Given the description of an element on the screen output the (x, y) to click on. 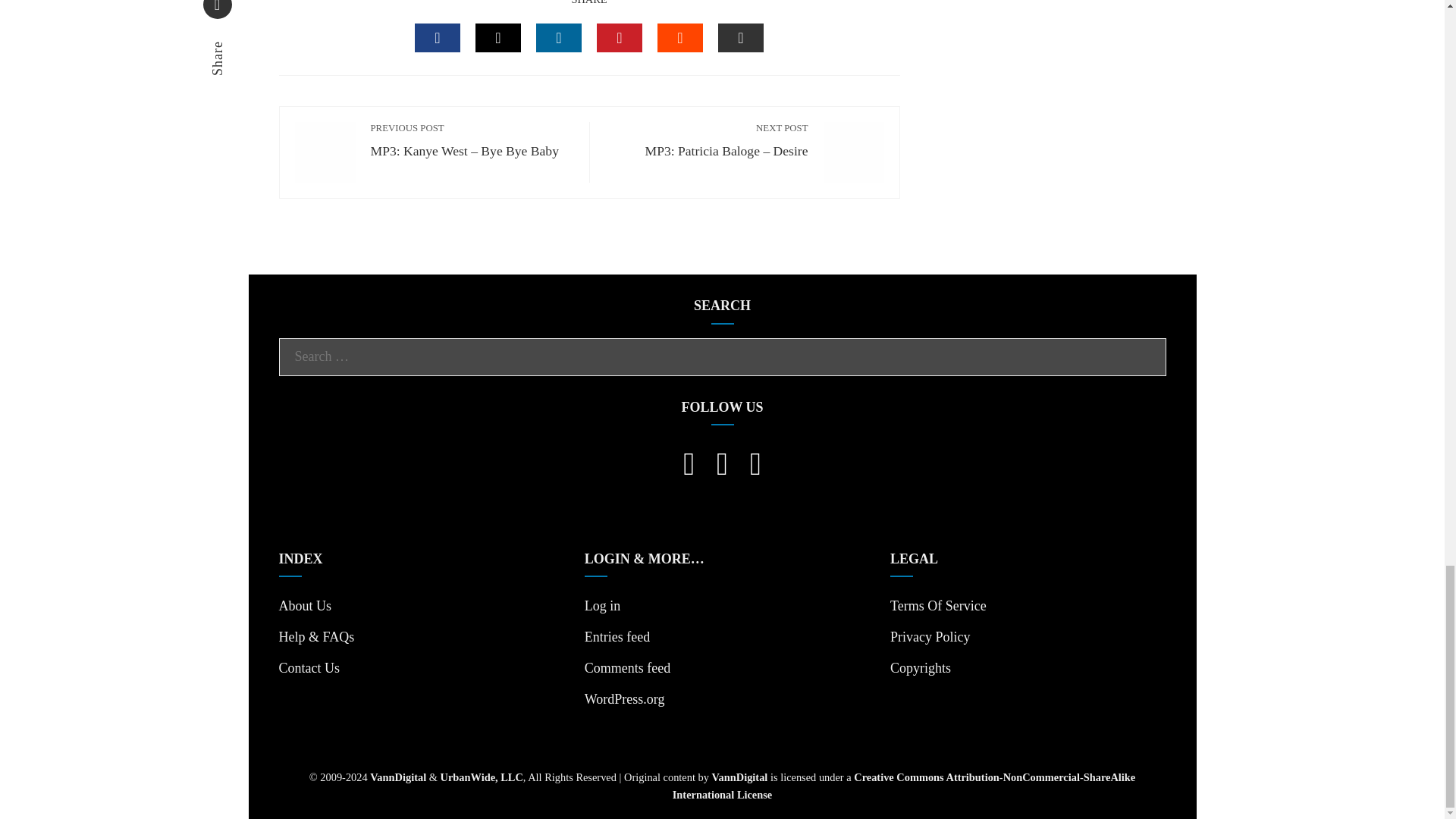
EMAIL (739, 37)
MP3: Kanye West - Bye Bye Baby (324, 152)
LINKEDIN (557, 37)
STUMBLEUPON (680, 37)
TWITTER (498, 37)
FACEBOOK (437, 37)
PINTEREST (619, 37)
MP3: Patricia Baloge - Desire (853, 152)
